Given the description of an element on the screen output the (x, y) to click on. 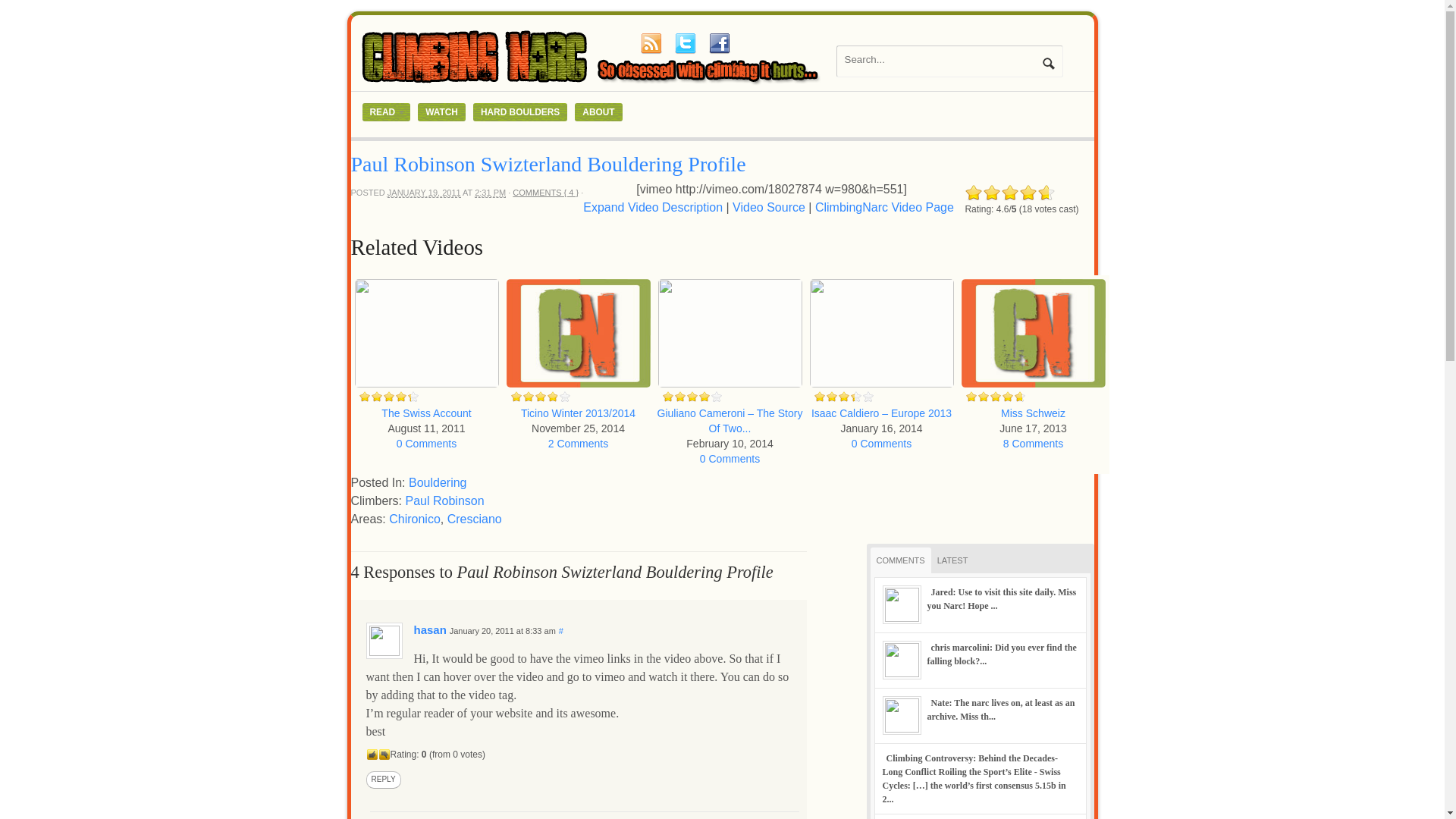
Search... (940, 58)
0 Comments (426, 443)
2011-01-19T14:31:48-0600 (424, 193)
So obsessed with climbing it hurts... (592, 82)
Video Source (768, 206)
Paul Robinson Swizterland Bouldering Profile (547, 164)
Connect on Facebook (718, 43)
Expand Video Description (652, 206)
ClimbingNarc Video Page (884, 206)
2011-01-19T14:31:48-0600 (489, 193)
Follow us on Twitter (684, 43)
WATCH (441, 112)
Subscribe to our RSS feed (650, 43)
HARD BOULDERS (520, 112)
ABOUT (598, 112)
